Given the description of an element on the screen output the (x, y) to click on. 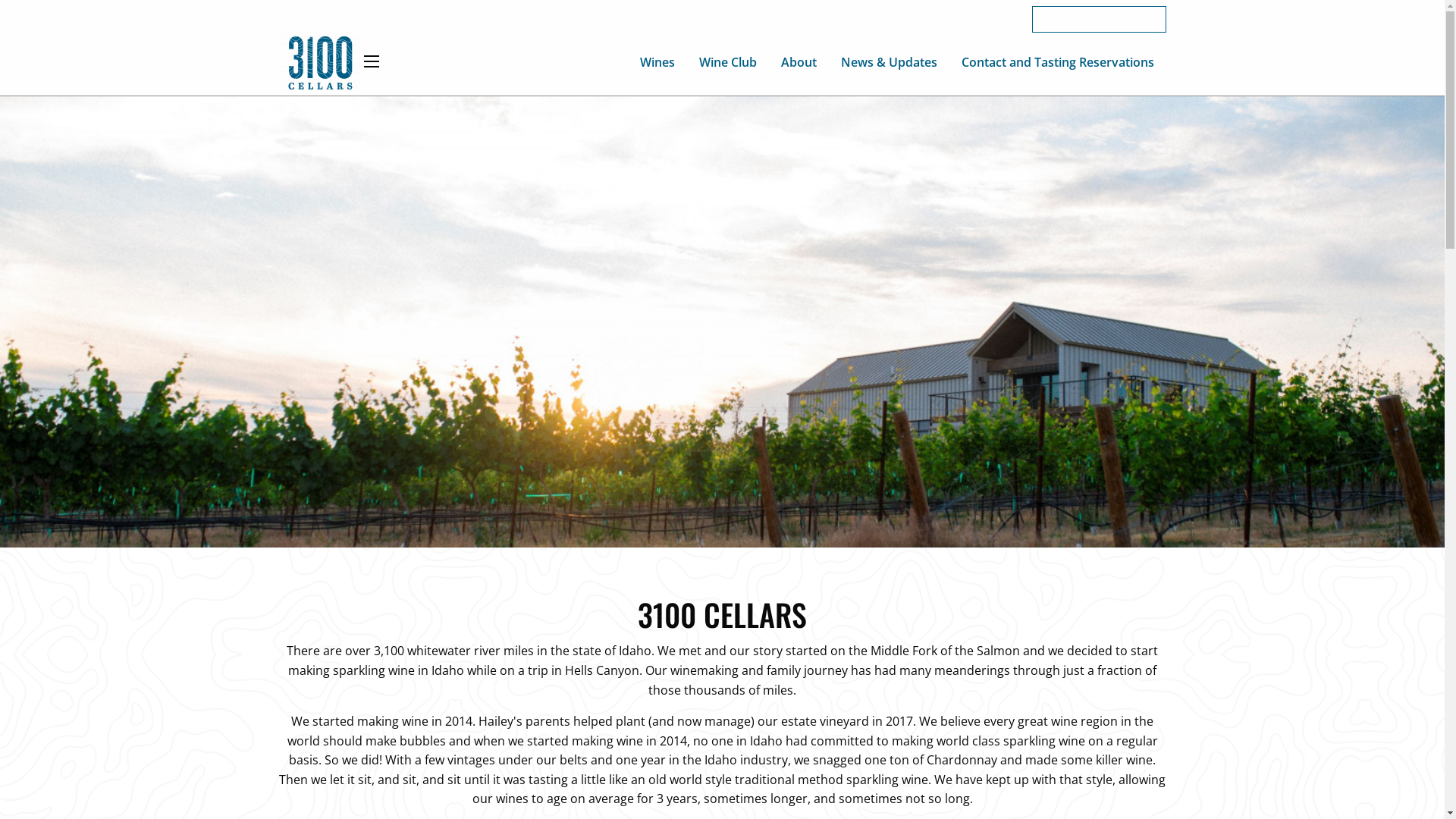
Wine Club Element type: text (727, 61)
Wines Element type: text (657, 61)
Contact and Tasting Reservations Element type: text (1057, 61)
About Element type: text (798, 61)
News & Updates Element type: text (888, 61)
